Given the description of an element on the screen output the (x, y) to click on. 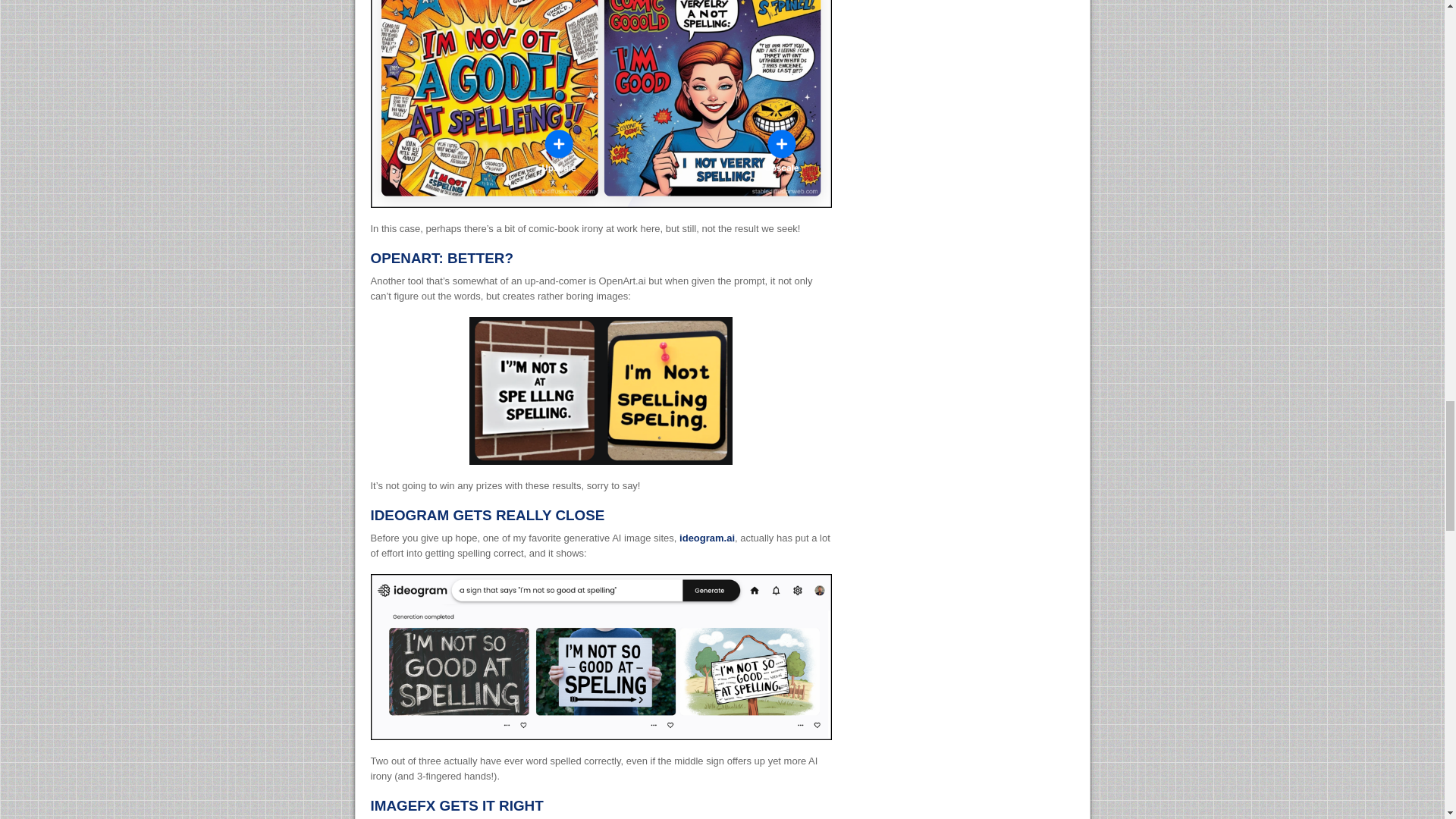
ideogram.ai (707, 537)
